Given the description of an element on the screen output the (x, y) to click on. 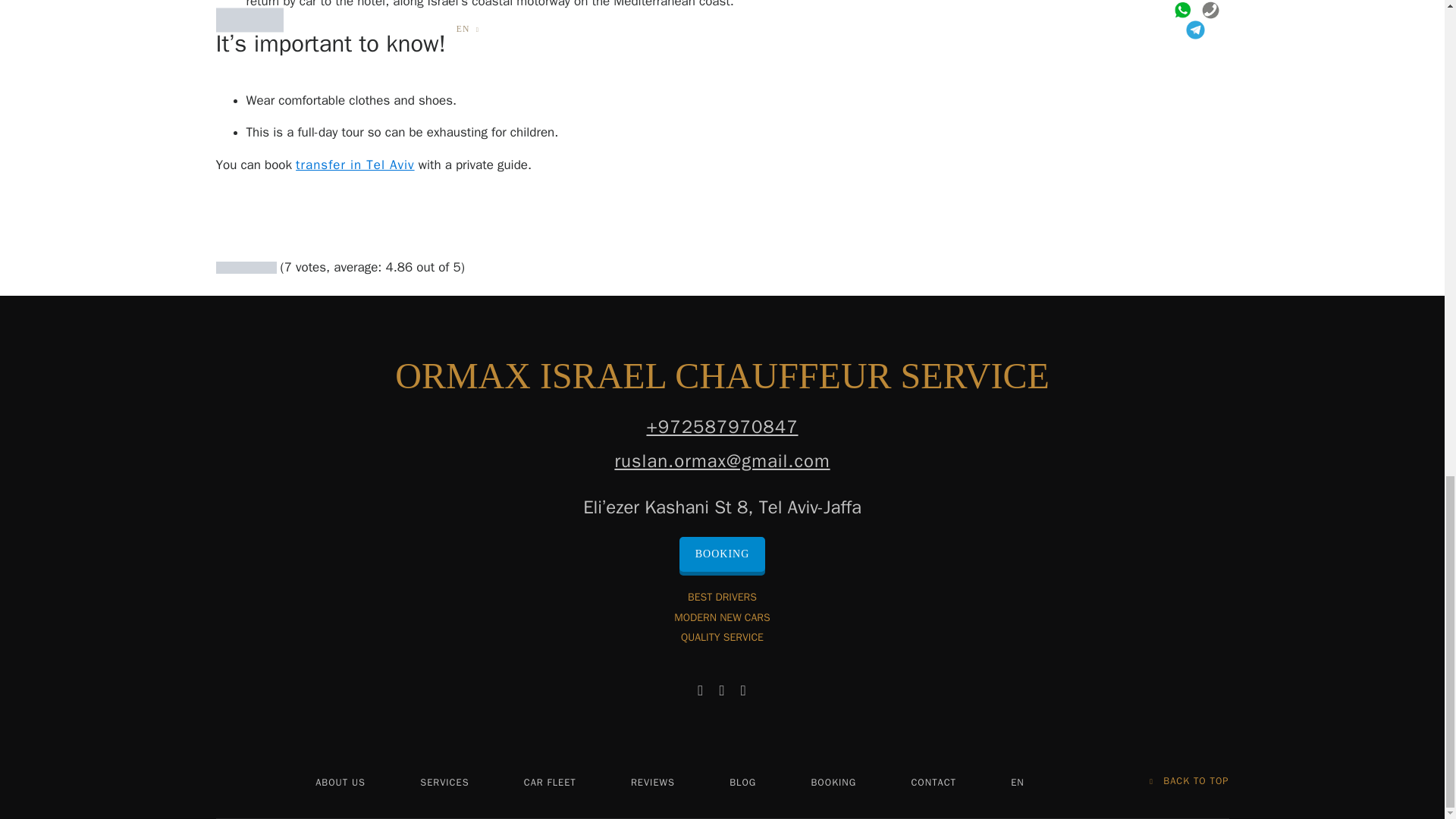
3 Stars (245, 267)
4 Stars (257, 267)
2 Stars (233, 267)
1 Star (221, 267)
5 Stars (269, 267)
BACK TO TOP (1189, 780)
